Given the description of an element on the screen output the (x, y) to click on. 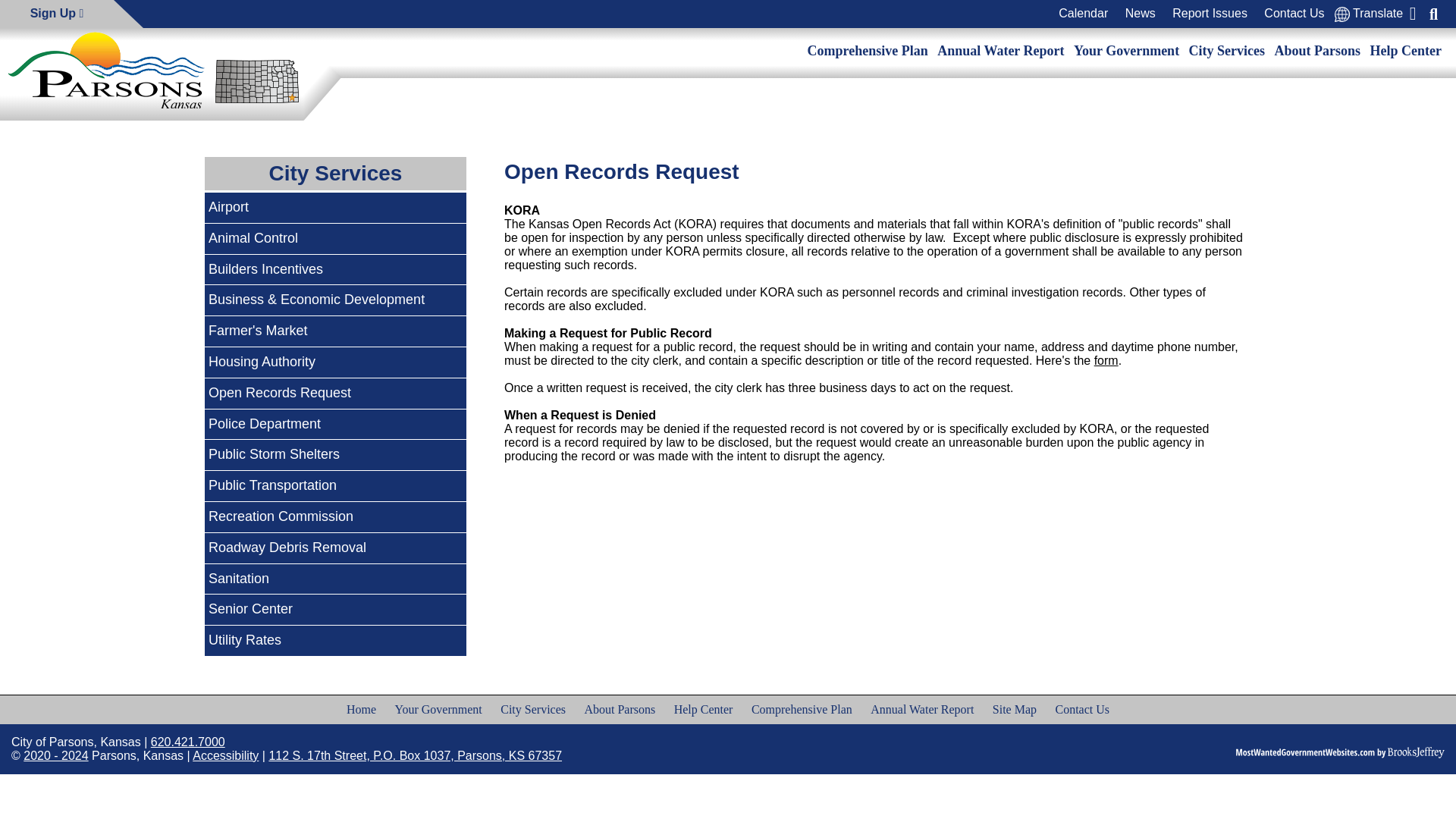
Contact Us (1293, 13)
City Services (1227, 50)
Annual Water Report (1000, 50)
About Parsons (1317, 50)
Comprehensive Plan (868, 50)
News (1139, 13)
Calendar (1083, 13)
Your Government (1126, 50)
Report Issues (1209, 13)
Sign Up (56, 13)
Translate (1369, 14)
